Given the description of an element on the screen output the (x, y) to click on. 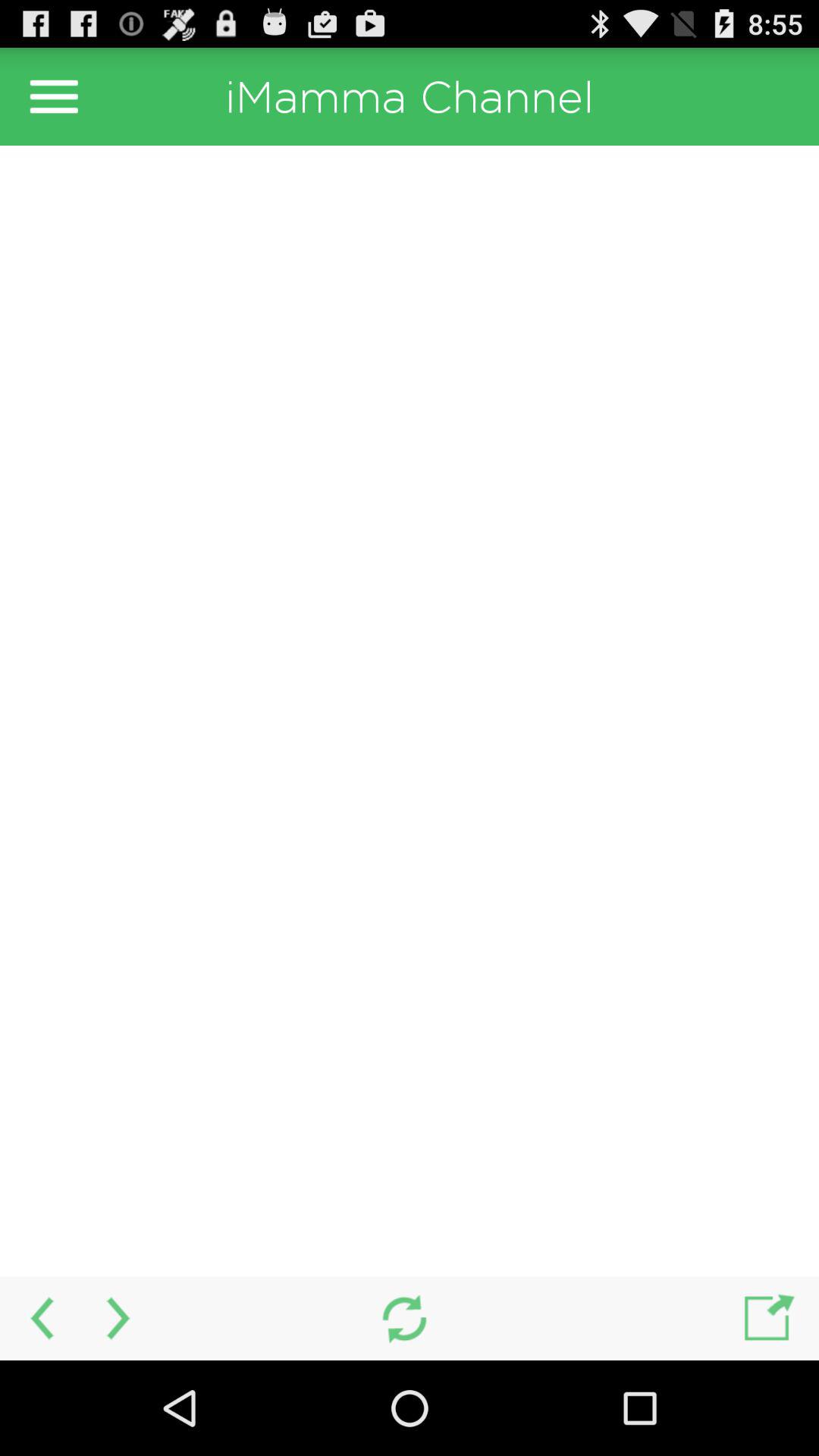
go to previous (40, 1318)
